Given the description of an element on the screen output the (x, y) to click on. 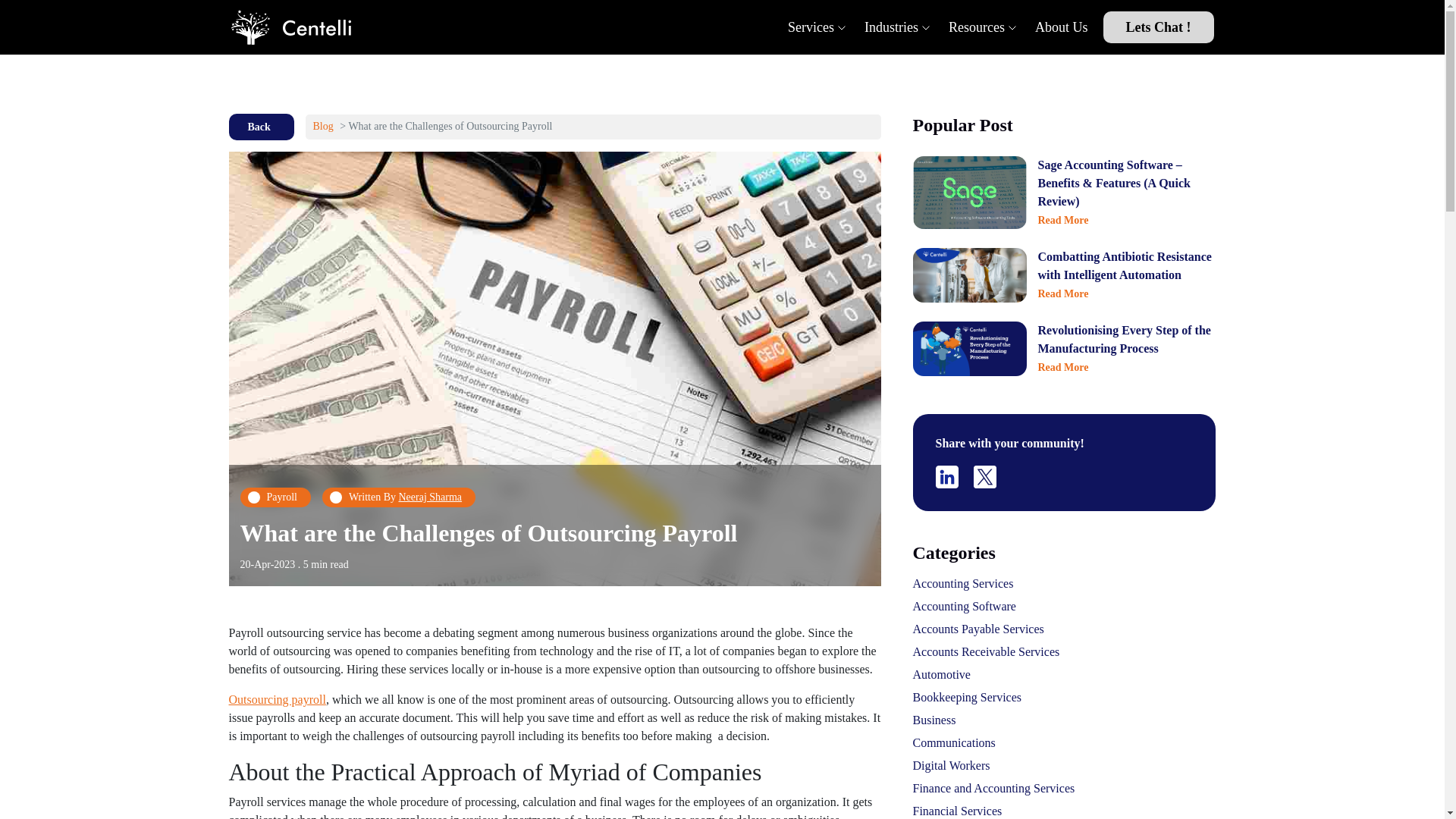
Resources (976, 27)
About Us (1061, 27)
Neeraj Sharma (430, 496)
Outsourcing payroll (277, 698)
Read More (1061, 293)
Lets Chat ! (1157, 27)
Read More (1061, 367)
Back (261, 126)
Read More (1061, 220)
Industries (891, 27)
Services (810, 27)
